Given the description of an element on the screen output the (x, y) to click on. 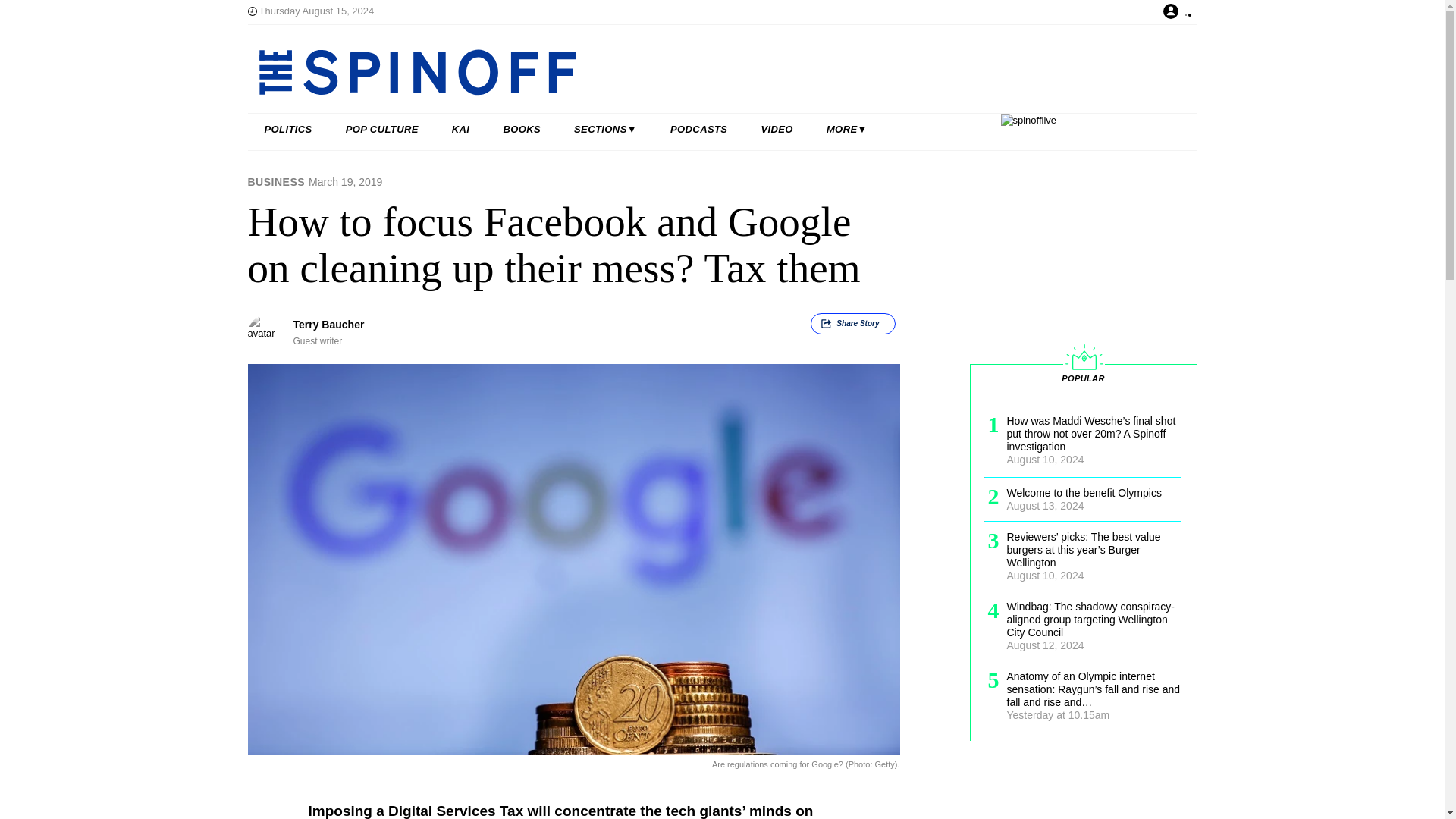
BOOKS (521, 129)
KAI (460, 129)
view all posts by Terry Baucher (328, 324)
POLITICS (288, 129)
VIDEO (776, 129)
POP CULTURE (382, 129)
PODCASTS (698, 129)
The Spinoff (673, 72)
MORE (846, 129)
SECTIONS (605, 129)
